Given the description of an element on the screen output the (x, y) to click on. 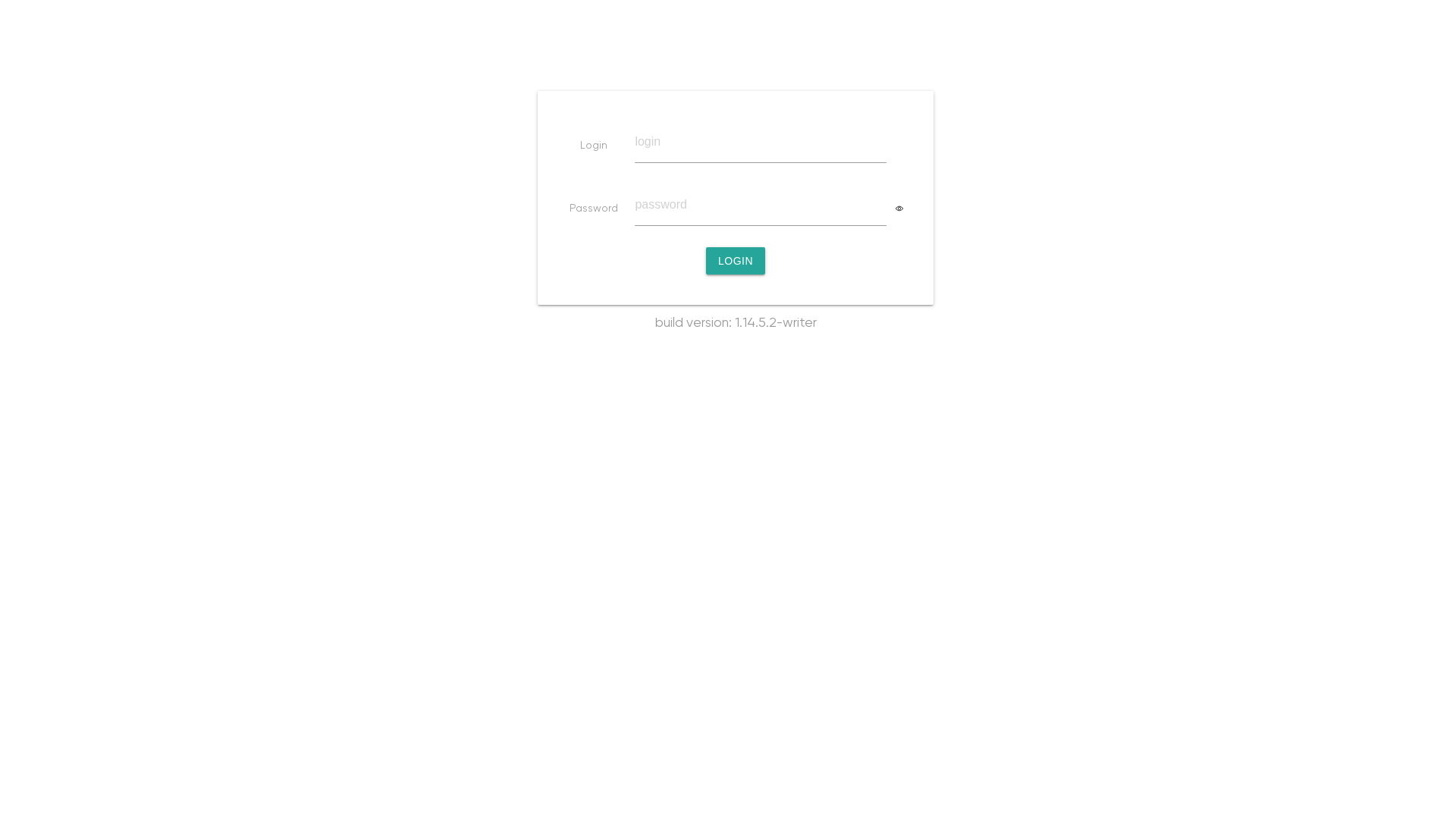
LOGIN Element type: text (735, 260)
